Given the description of an element on the screen output the (x, y) to click on. 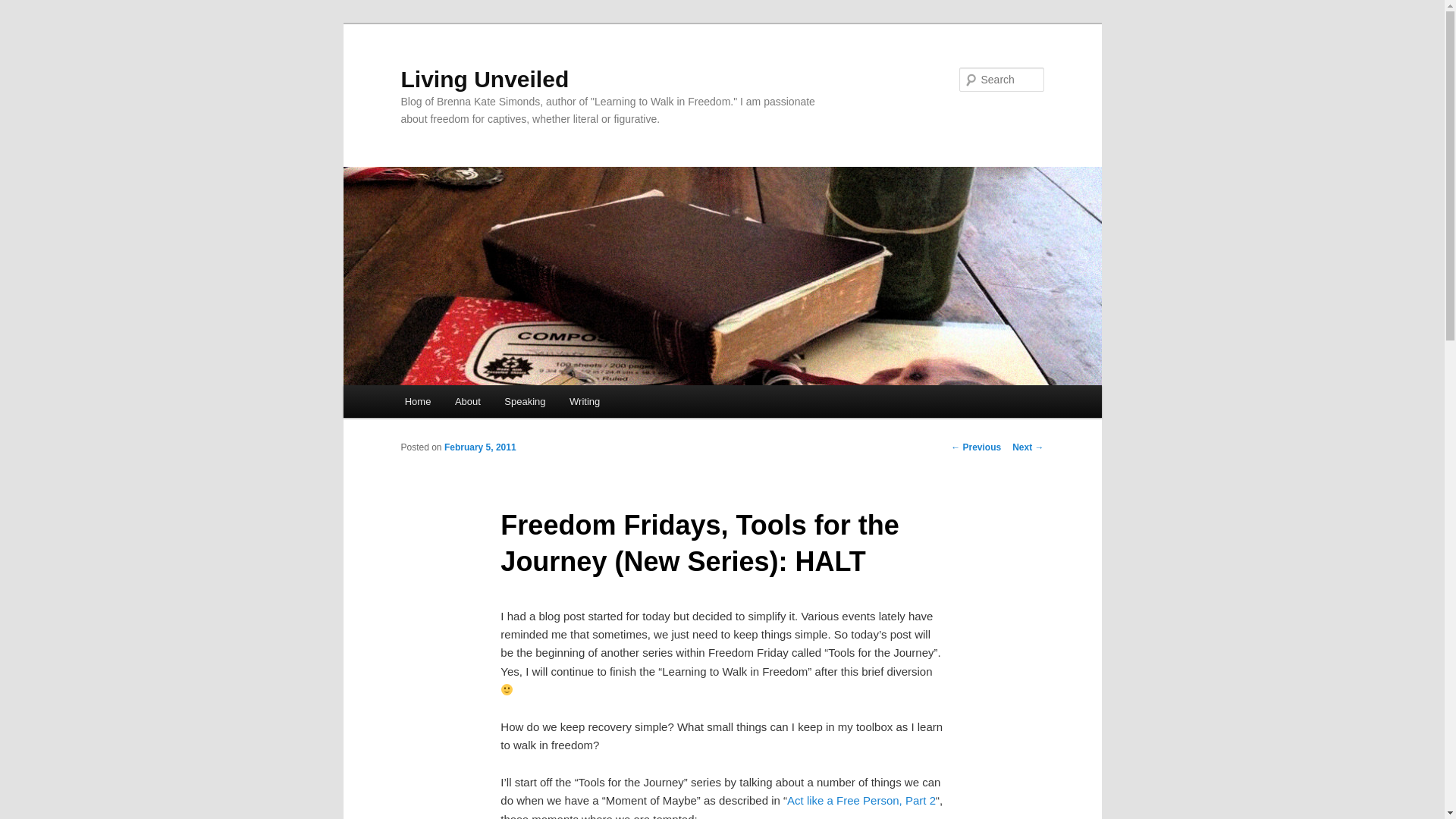
February 5, 2011 (480, 447)
12:39 AM (480, 447)
Living Unveiled (484, 78)
Act like a Free Person, Part 2 (861, 799)
About (467, 400)
Writing (584, 400)
Search (24, 8)
Speaking (525, 400)
Home (417, 400)
